Given the description of an element on the screen output the (x, y) to click on. 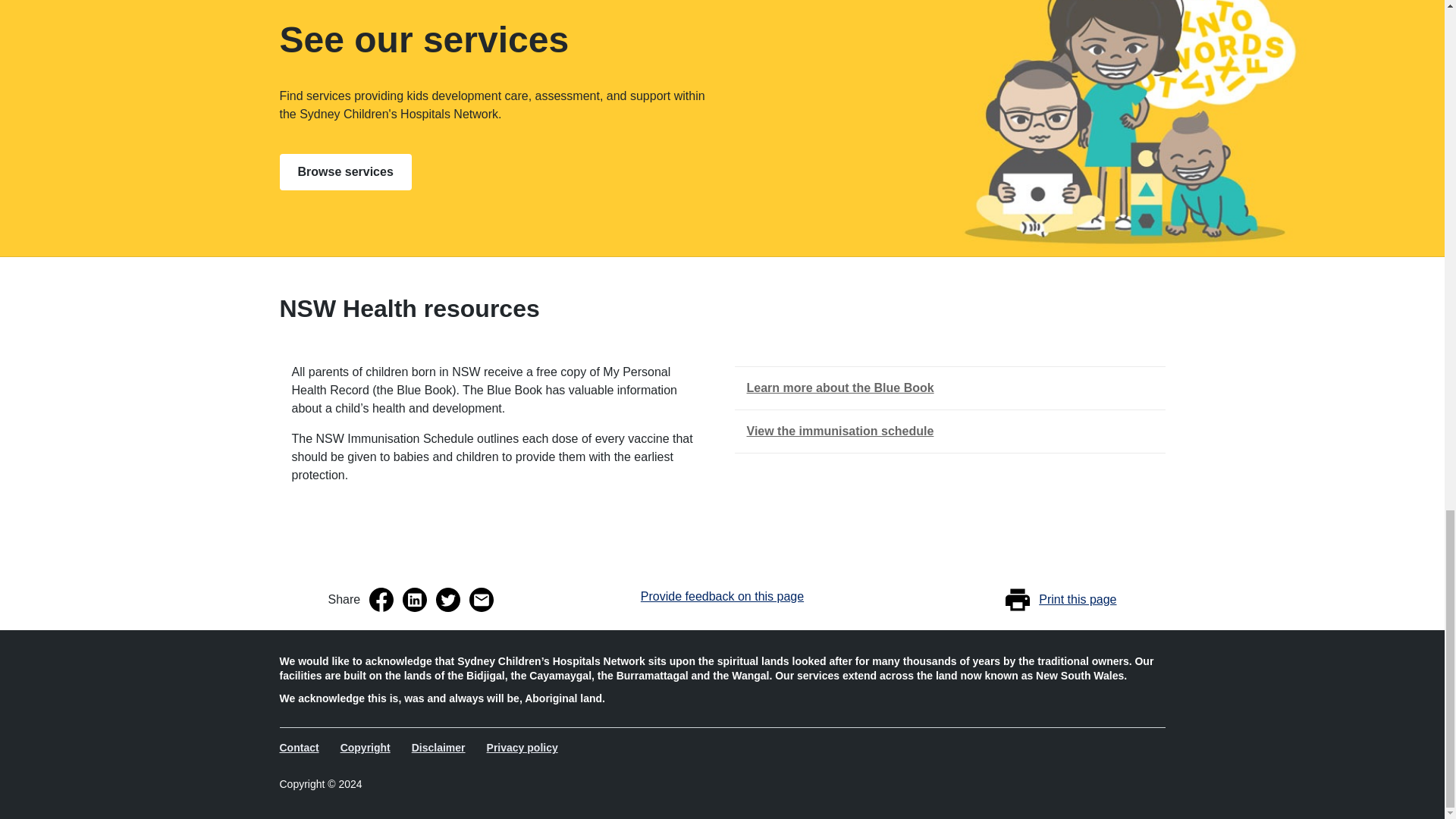
Share page on LinkedIn (414, 599)
Share page on Twitter (447, 599)
Share page via Email (480, 599)
Privacy information (523, 747)
Share page on Facebook (381, 599)
Copyright information (366, 747)
Disclaimer information (440, 747)
